Given the description of an element on the screen output the (x, y) to click on. 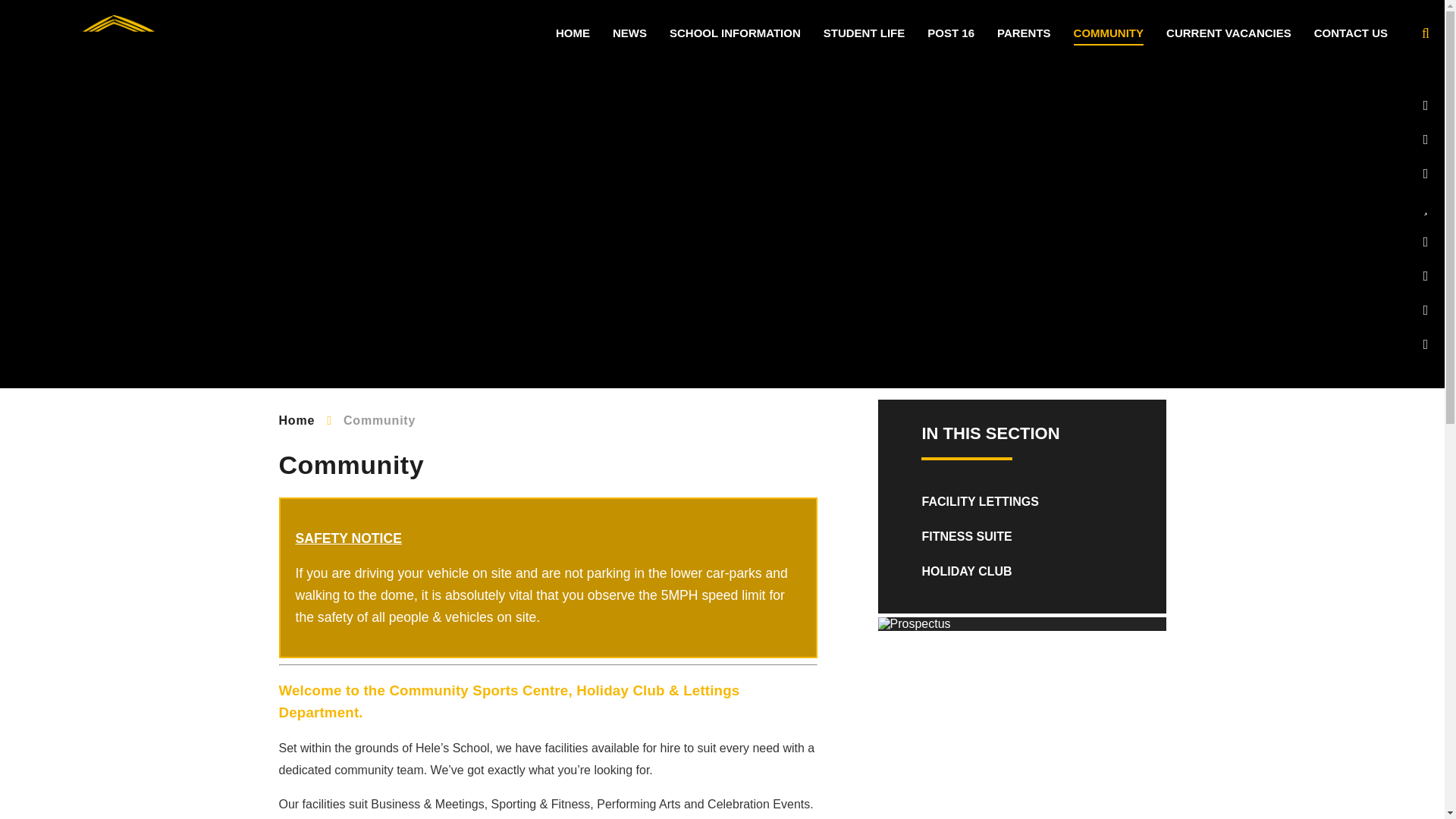
Prospectus (1021, 623)
SCHOOL INFORMATION (735, 32)
HOME (572, 32)
NEWS (629, 32)
